Given the description of an element on the screen output the (x, y) to click on. 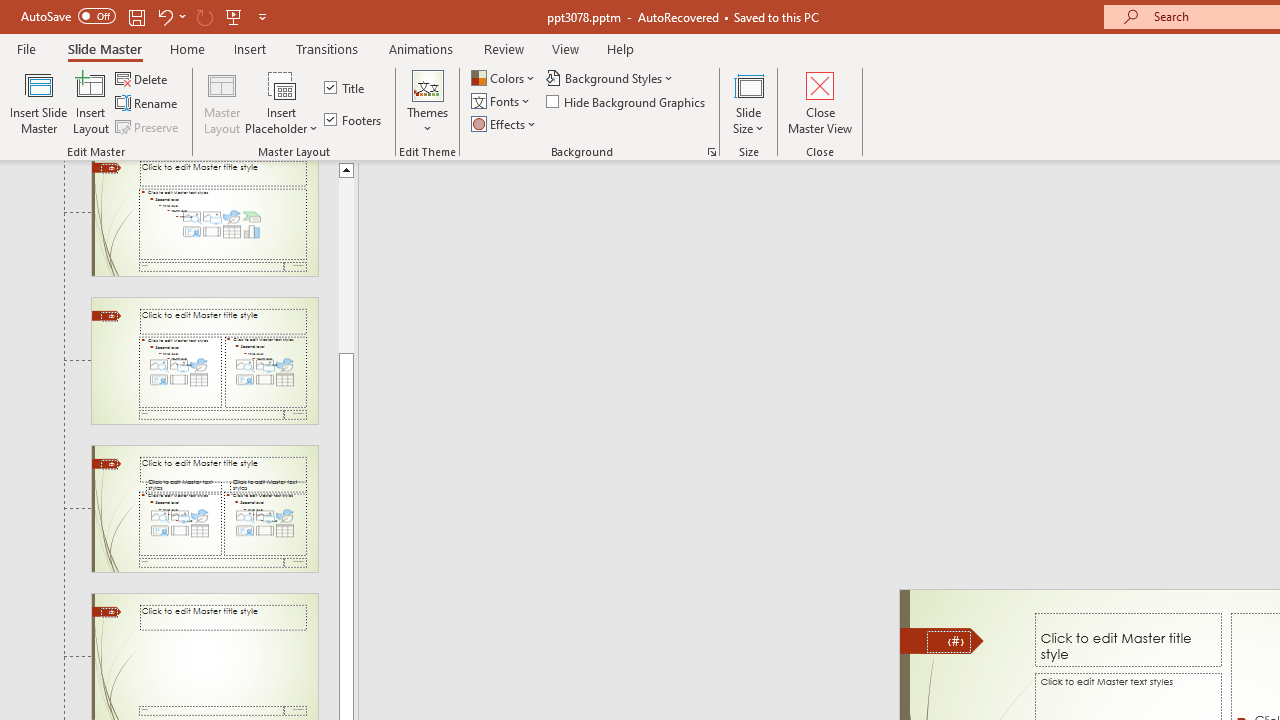
Footers (354, 119)
